Given the description of an element on the screen output the (x, y) to click on. 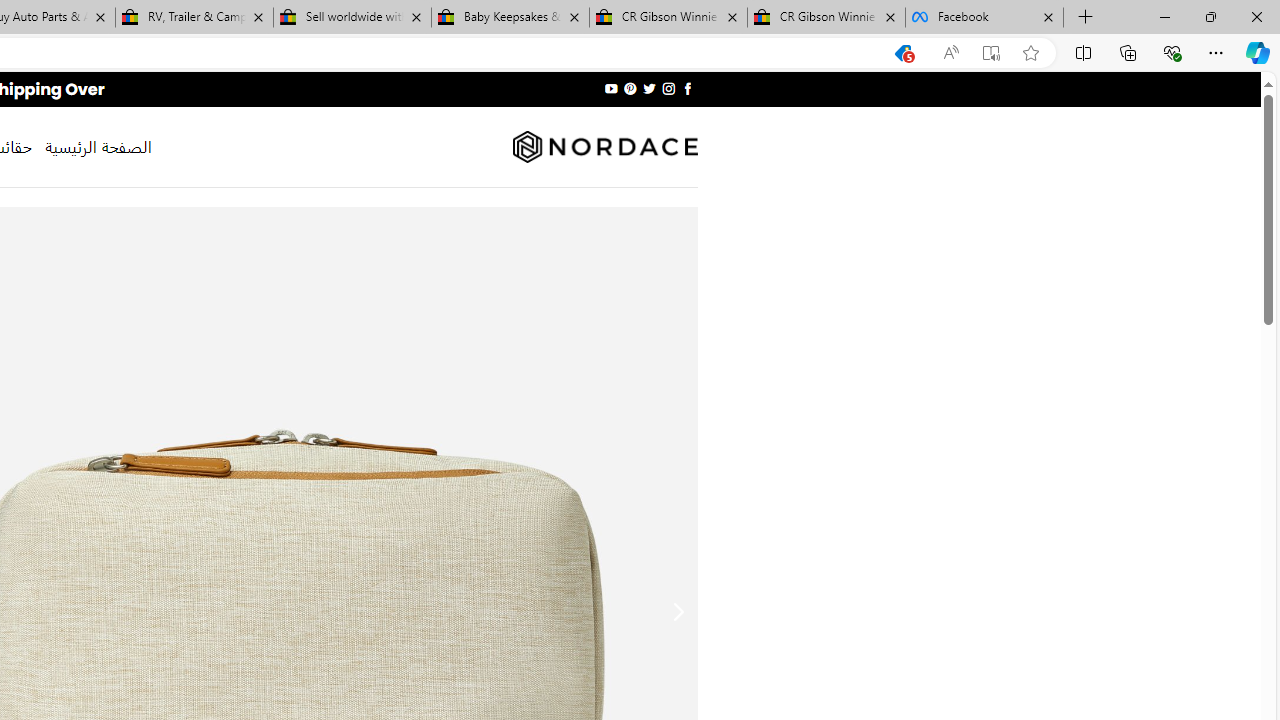
You have the best price! (902, 53)
